Given the description of an element on the screen output the (x, y) to click on. 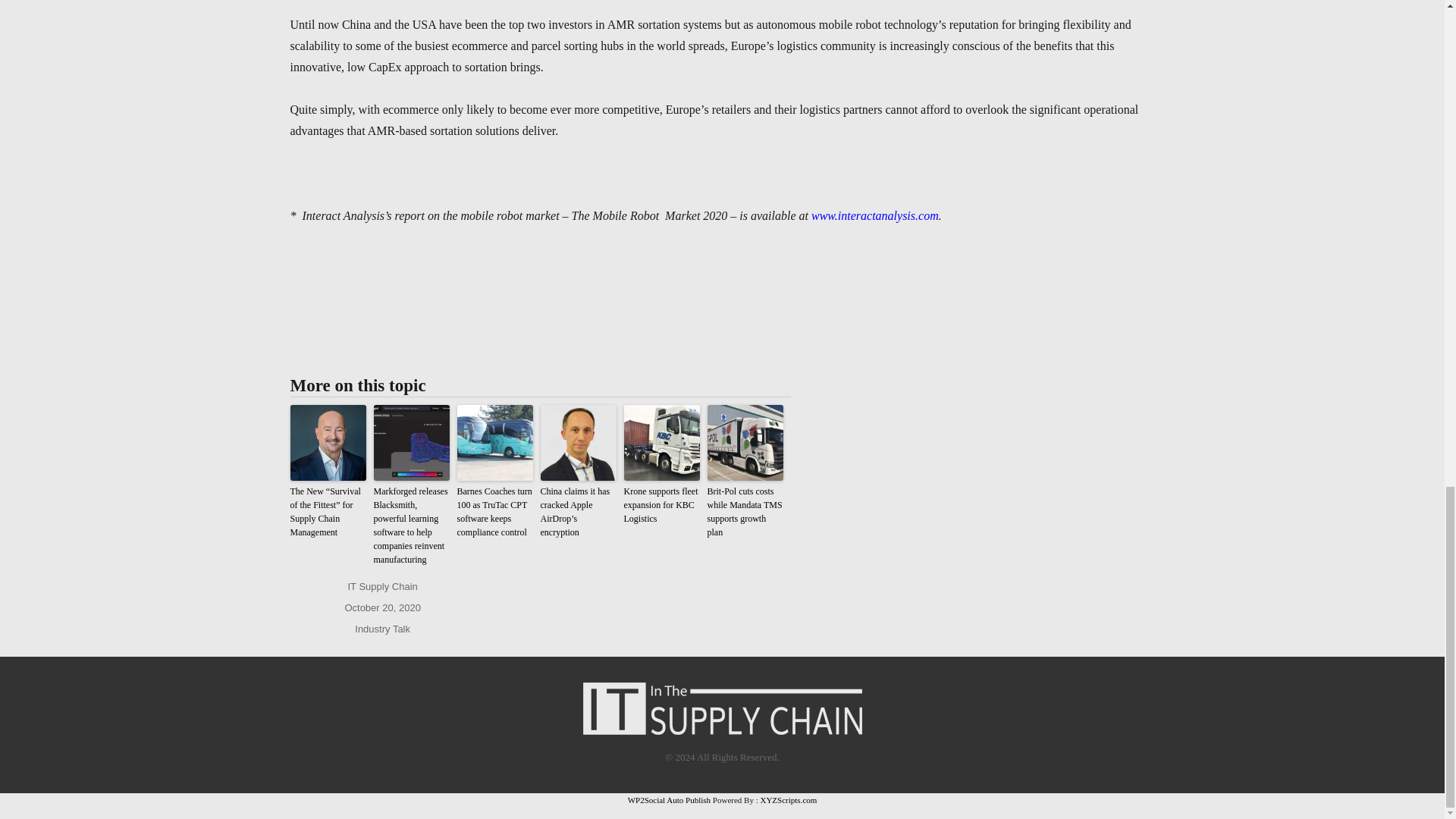
WP2Social Auto Publish (668, 799)
